Given the description of an element on the screen output the (x, y) to click on. 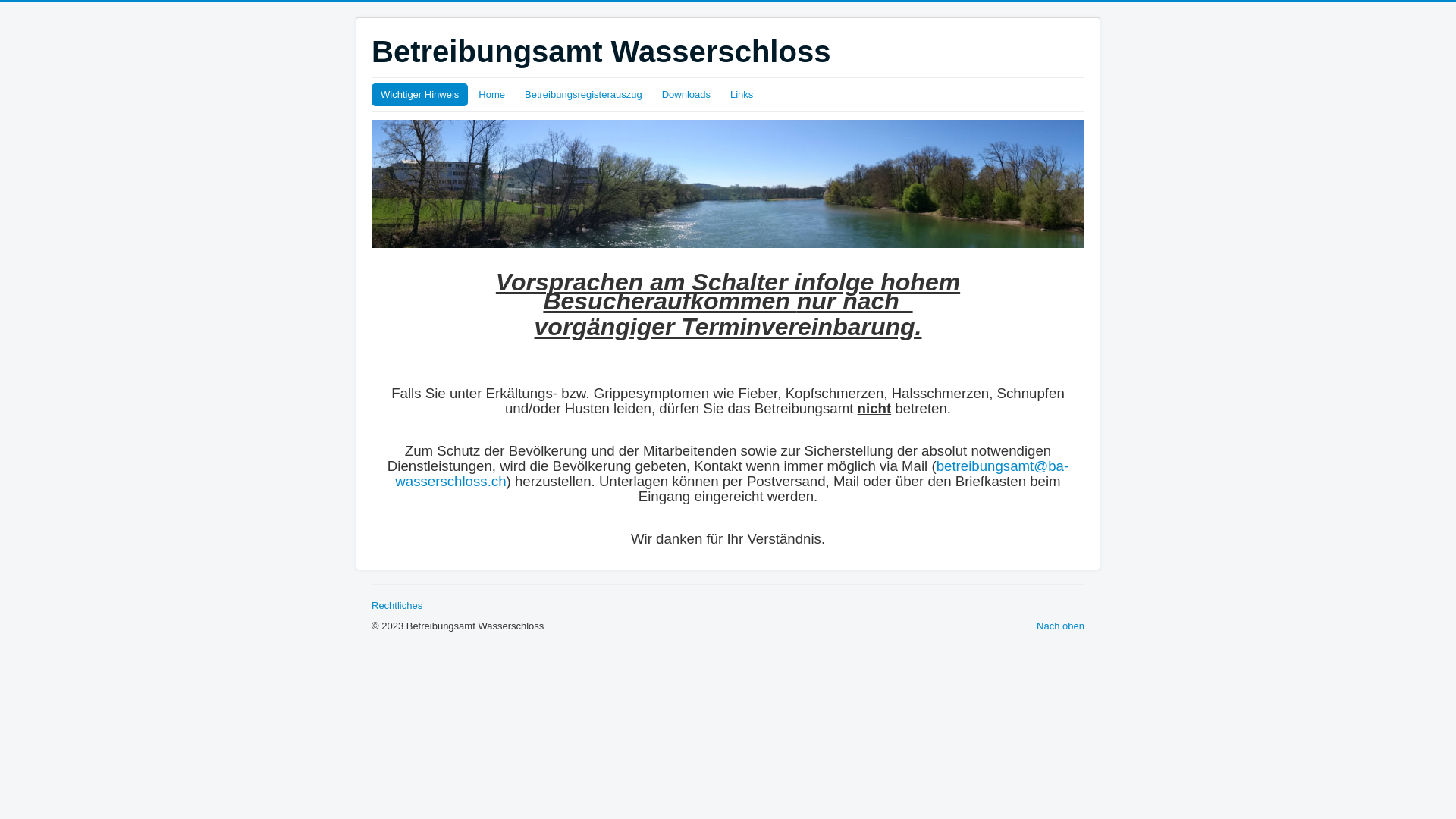
Rechtliches Element type: text (396, 605)
Links Element type: text (741, 94)
Downloads Element type: text (685, 94)
Betreibungsamt Wasserschloss Element type: text (600, 51)
Wichtiger Hinweis Element type: text (419, 94)
Home Element type: text (491, 94)
betreibungsamt@ba-wasserschloss.ch Element type: text (731, 473)
Nach oben Element type: text (1060, 625)
Betreibungsregisterauszug Element type: text (583, 94)
